Given the description of an element on the screen output the (x, y) to click on. 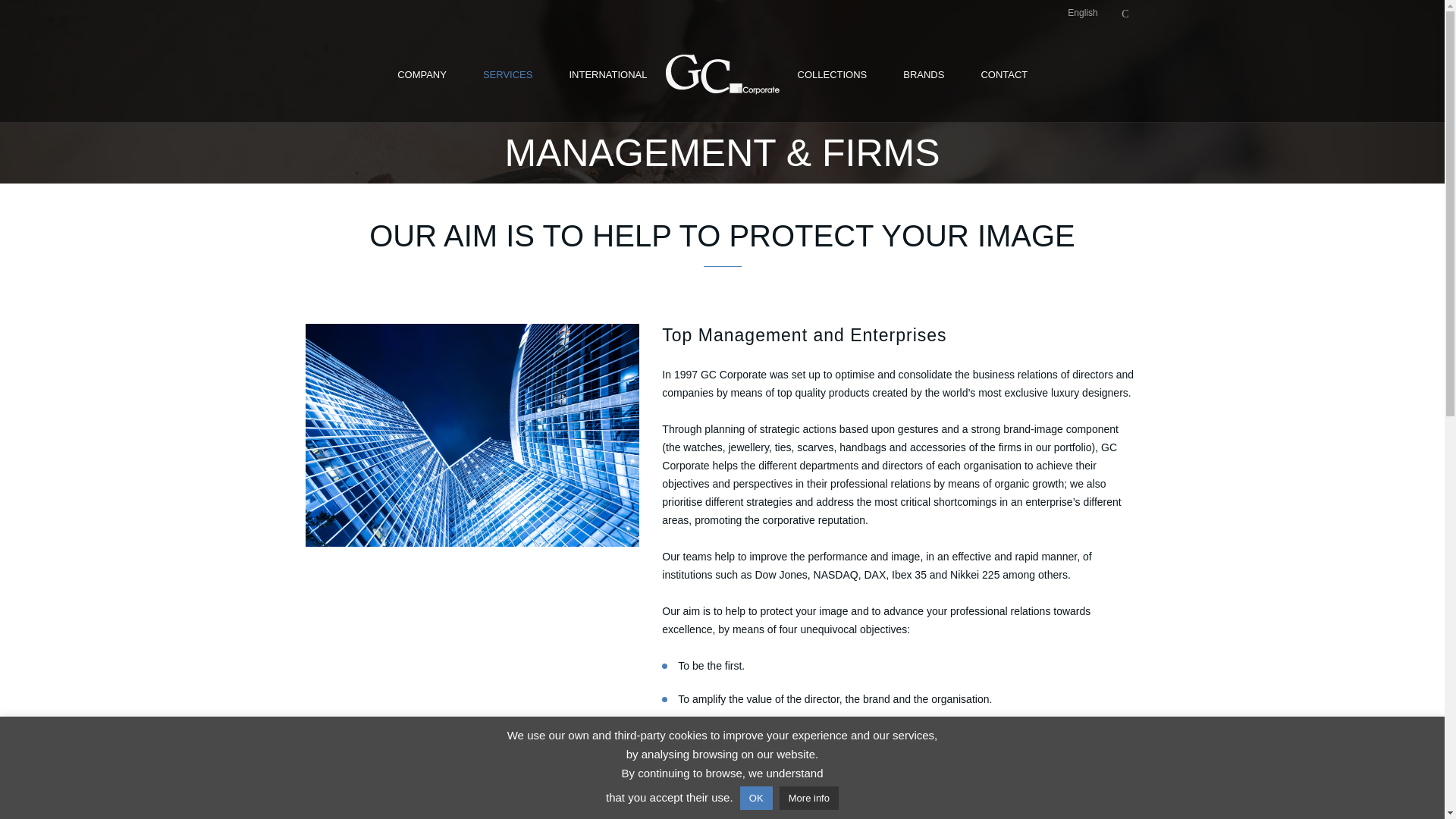
SERVICES (507, 74)
COLLECTIONS (831, 74)
English (1083, 13)
COMPANY (421, 74)
INTERNATIONAL (607, 74)
